Given the description of an element on the screen output the (x, y) to click on. 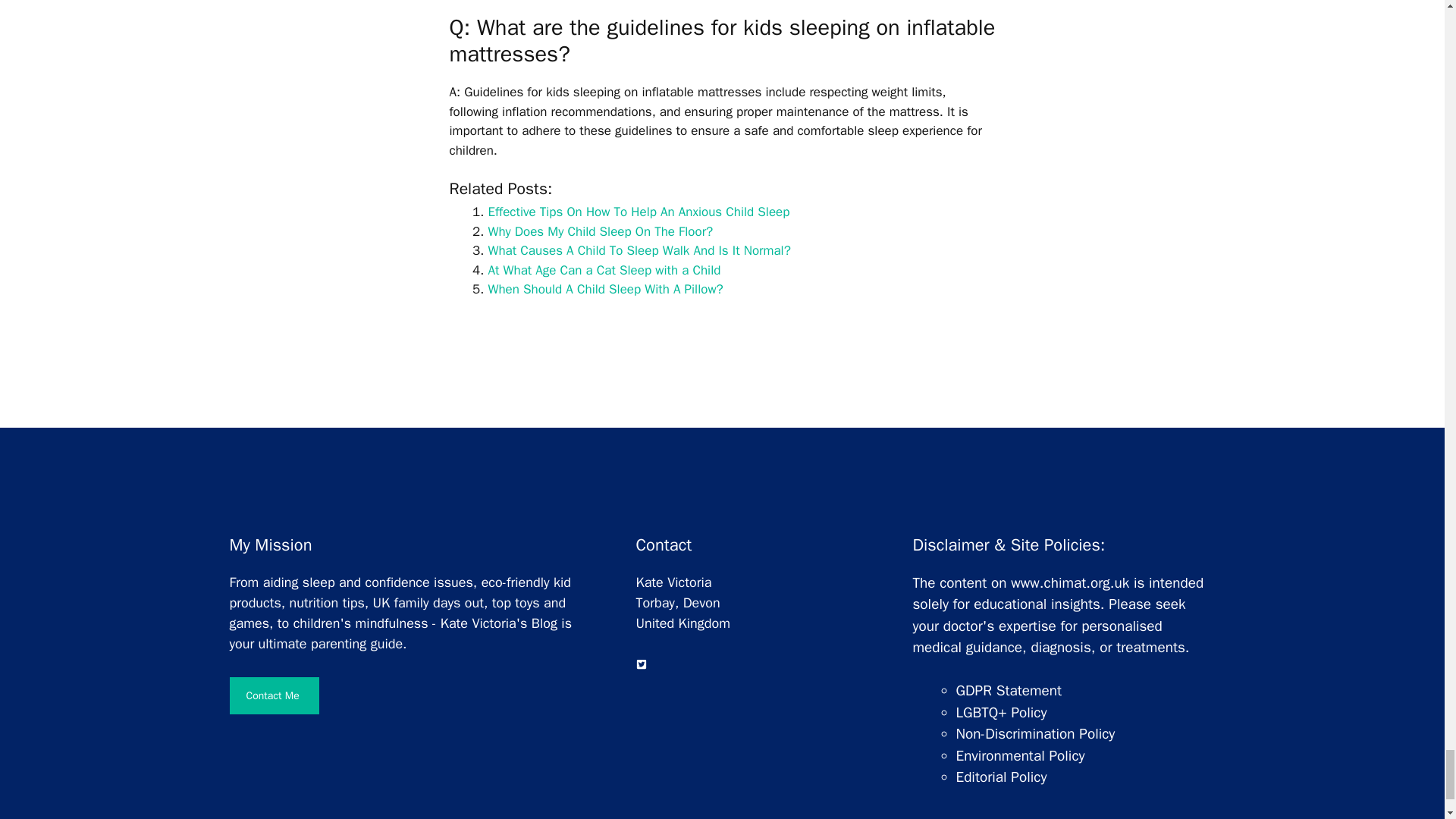
At What Age Can a Cat Sleep with a Child (603, 270)
What Causes A Child To Sleep Walk And Is It Normal? (638, 250)
Why Does My Child Sleep On The Floor? (600, 231)
Effective Tips On How To Help An Anxious Child Sleep (638, 211)
